Given the description of an element on the screen output the (x, y) to click on. 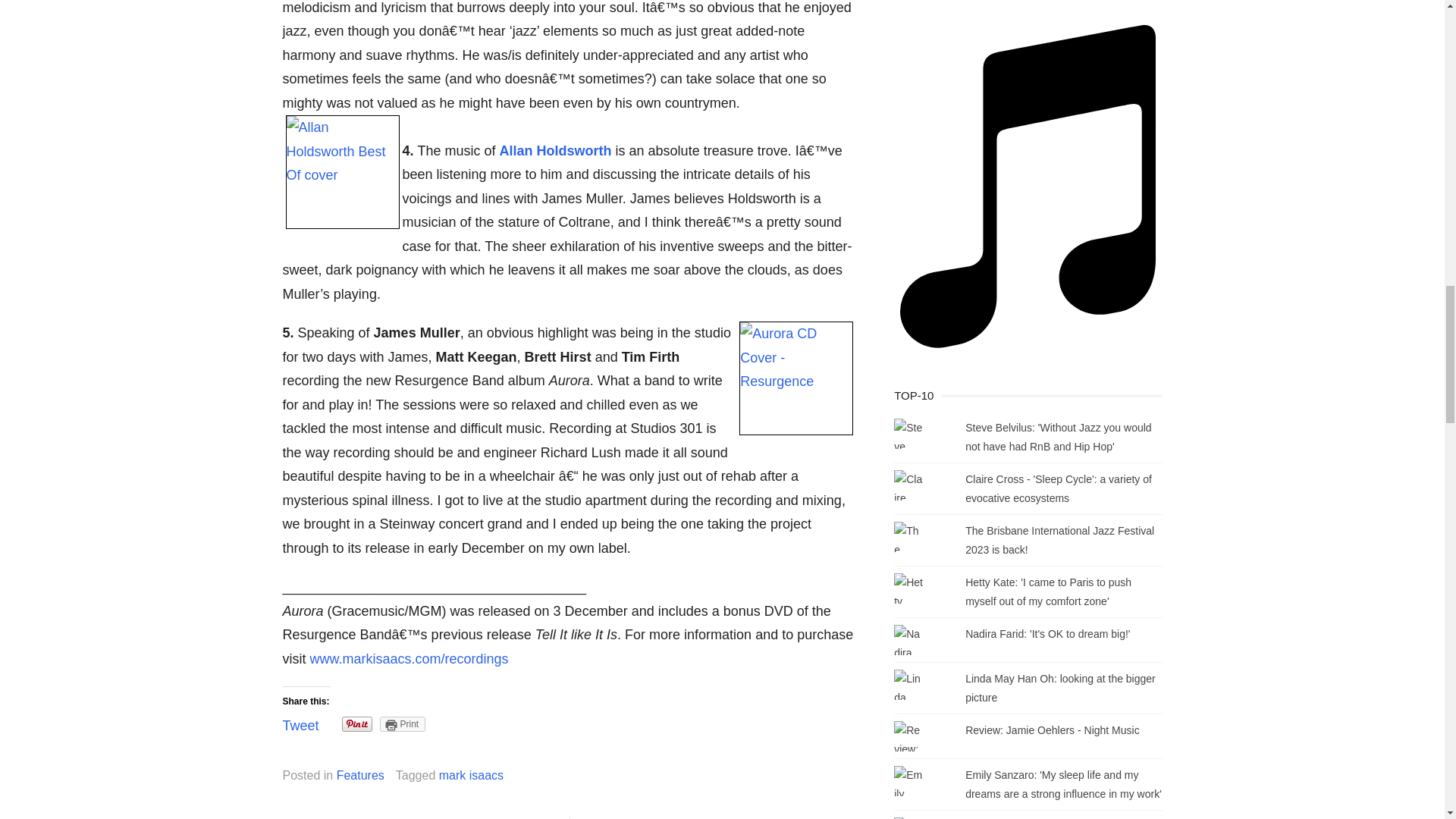
Allan Holdsworth Best Of cover (341, 172)
The Brisbane International Jazz Festival 2023 is back! (1059, 540)
Nadira Farid: 'It's OK to dream big!' (1047, 633)
Click to print (403, 724)
Linda May Han Oh: looking at the bigger picture (1060, 687)
Aurora - recent CD release from The Resurgence Band (796, 377)
